Given the description of an element on the screen output the (x, y) to click on. 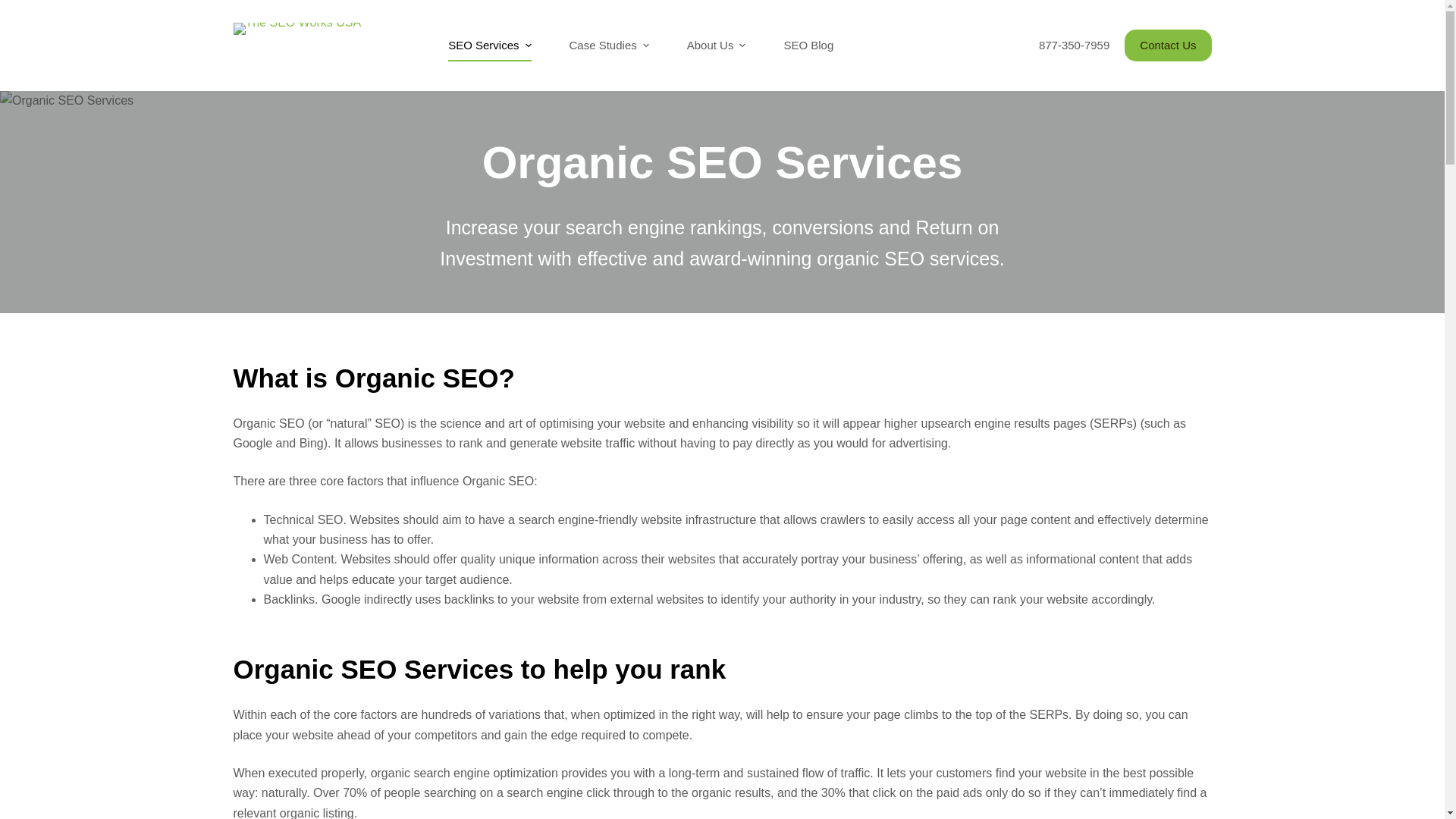
Organic SEO Services (722, 162)
Case Studies (609, 45)
Skip to content (15, 7)
SEO Services (489, 45)
